Given the description of an element on the screen output the (x, y) to click on. 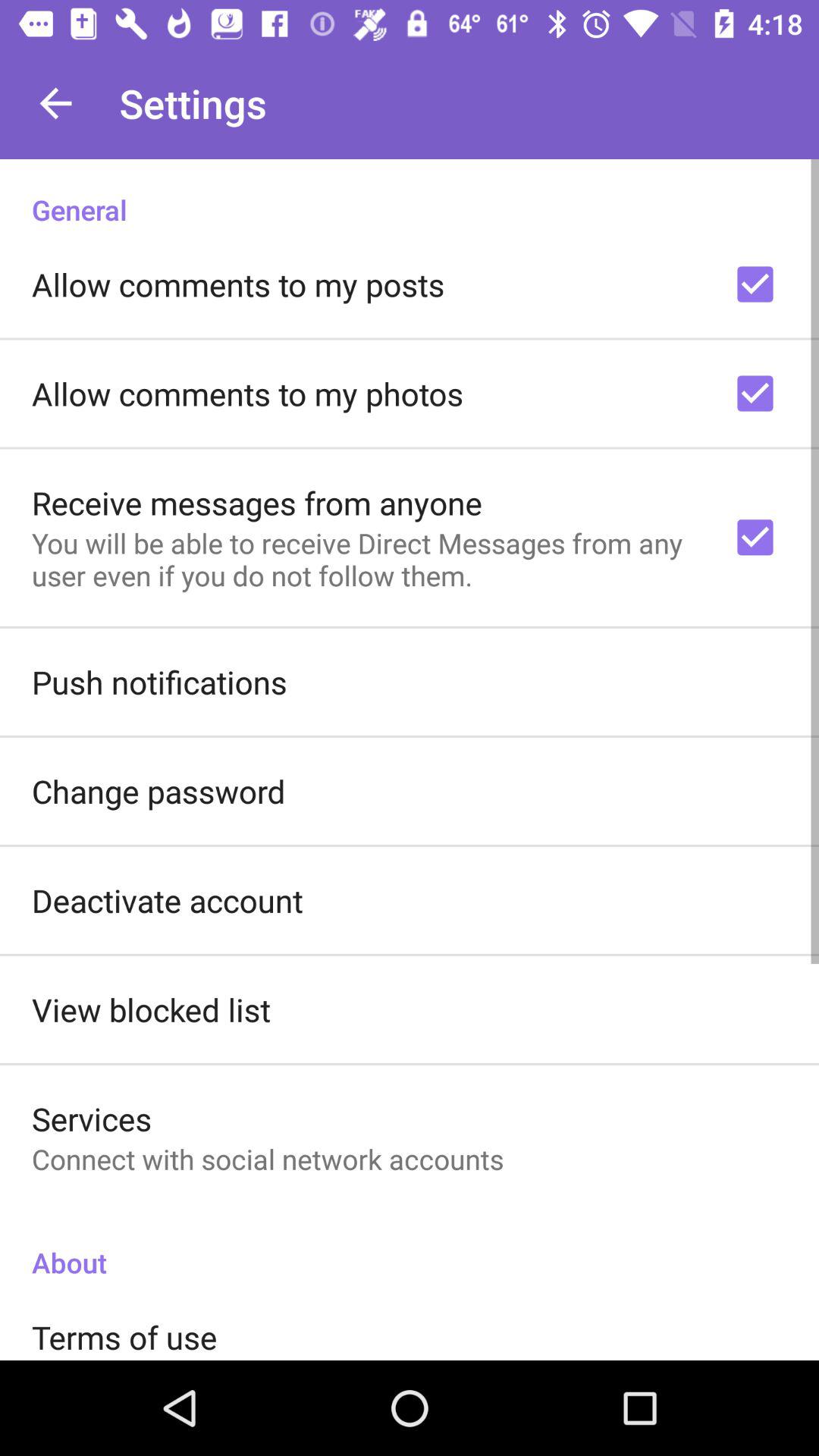
click the connect with social icon (267, 1158)
